Given the description of an element on the screen output the (x, y) to click on. 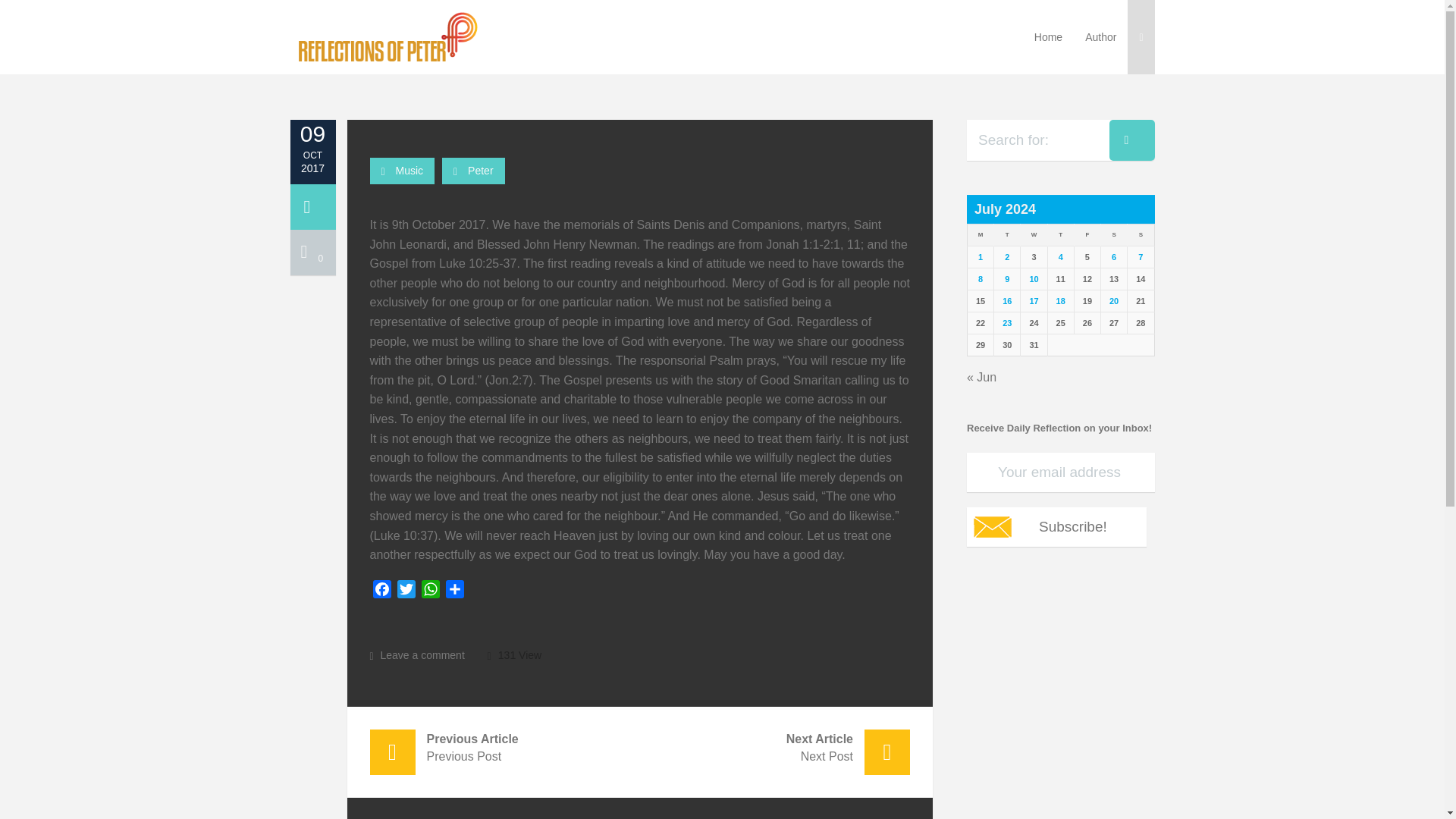
Twitter (406, 591)
Facebook (381, 591)
Subscribe!        (1056, 526)
Subscribe!        (1056, 526)
Music (409, 170)
16 (1007, 300)
View all posts by Peter (480, 170)
Facebook (381, 591)
17 (1033, 300)
Monday (981, 235)
Thursday (1060, 235)
Tuesday (1007, 235)
Reflections of Peter (386, 36)
18 (1061, 300)
Wednesday (1033, 235)
